Given the description of an element on the screen output the (x, y) to click on. 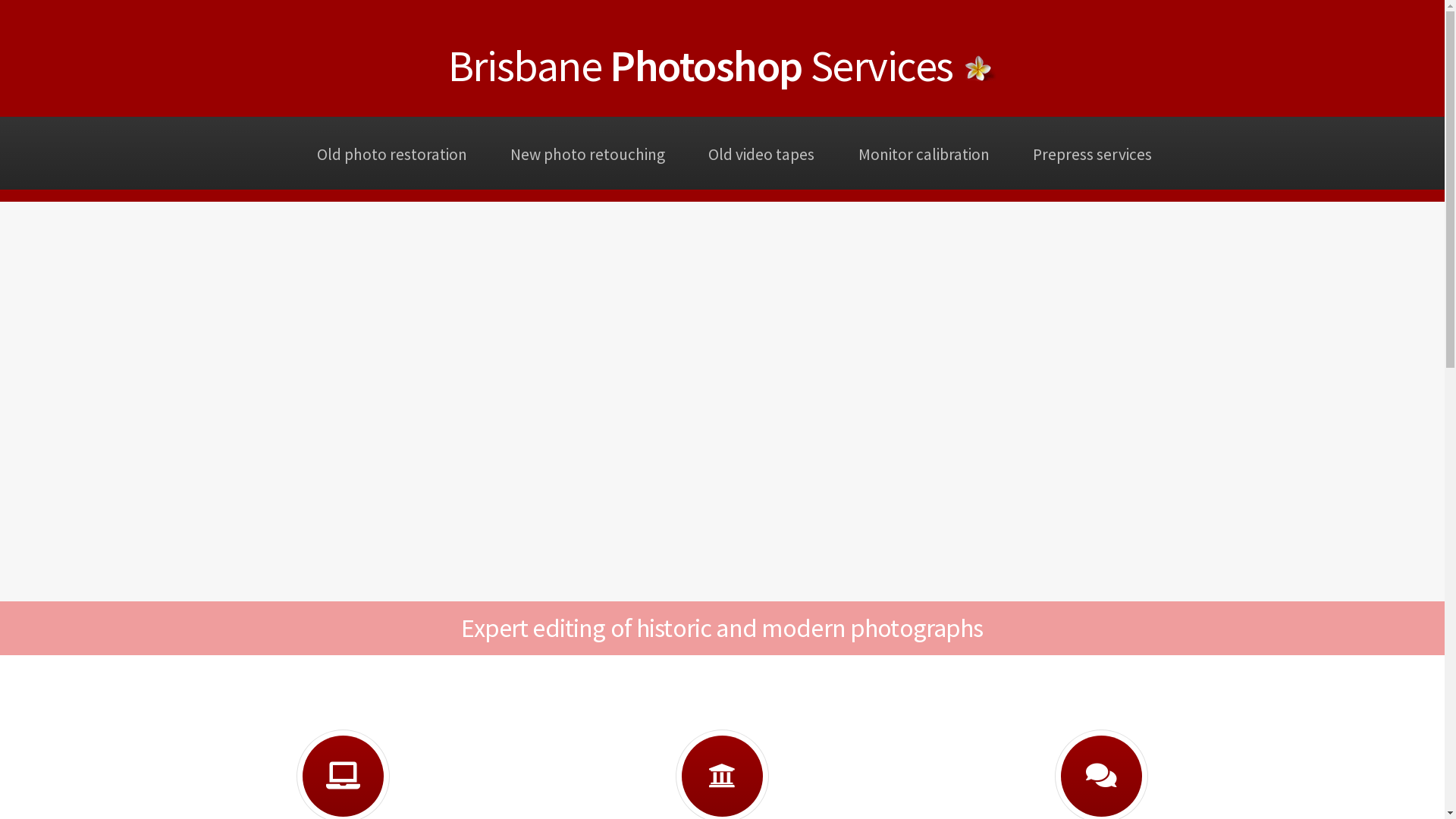
Old video tapes Element type: text (761, 152)
Brisbane Photoshop Services Element type: text (700, 65)
Monitor calibration Element type: text (923, 152)
Old photo restoration Element type: text (391, 152)
New photo retouching Element type: text (587, 152)
Prepress services Element type: text (1091, 152)
